Given the description of an element on the screen output the (x, y) to click on. 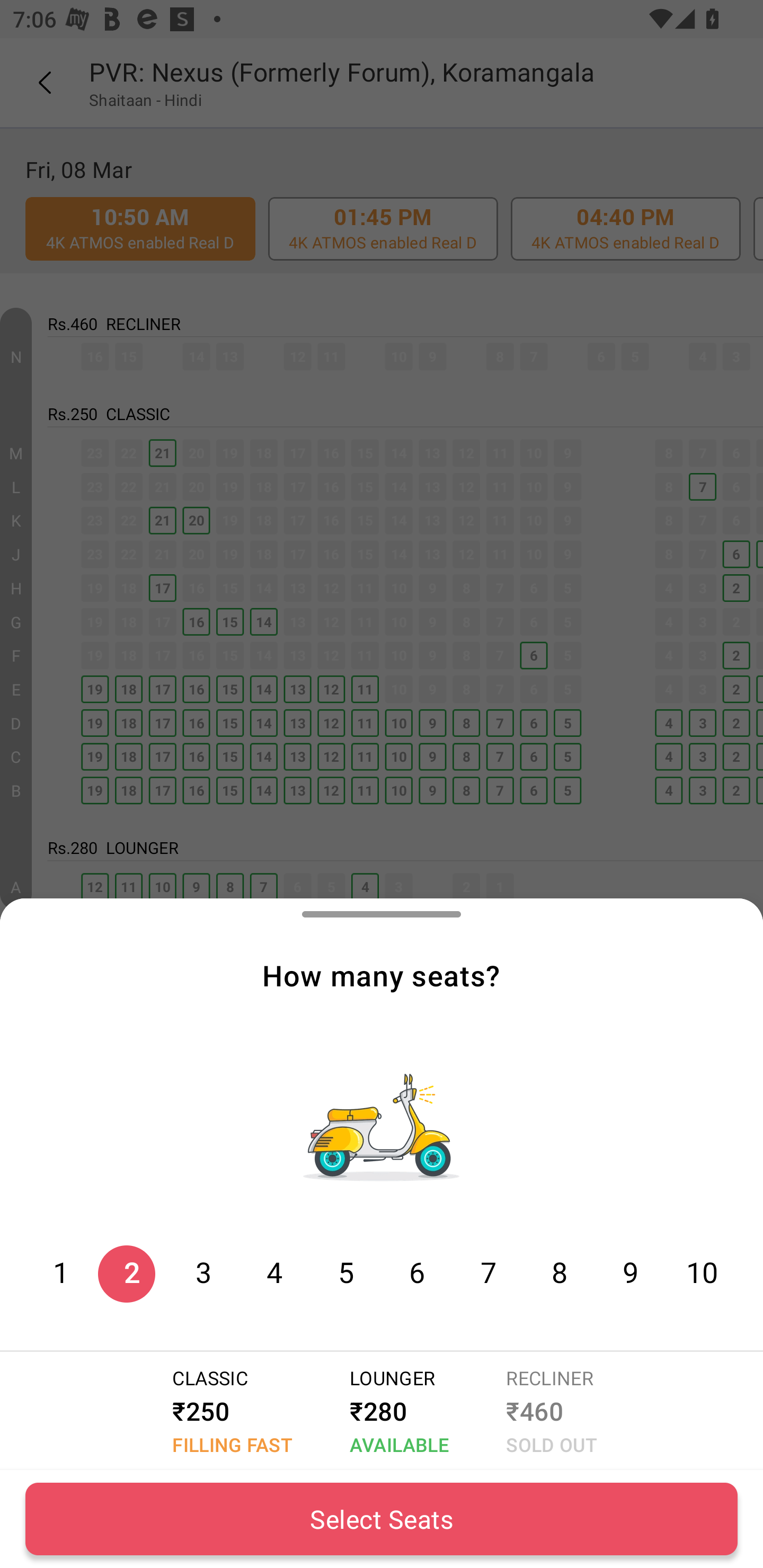
CLASSIC ₹250 FILLING FAST (229, 1410)
LOUNGER ₹280 AVAILABLE (396, 1410)
RECLINER ₹460 SOLD OUT (548, 1410)
Select Seats (381, 1519)
